Given the description of an element on the screen output the (x, y) to click on. 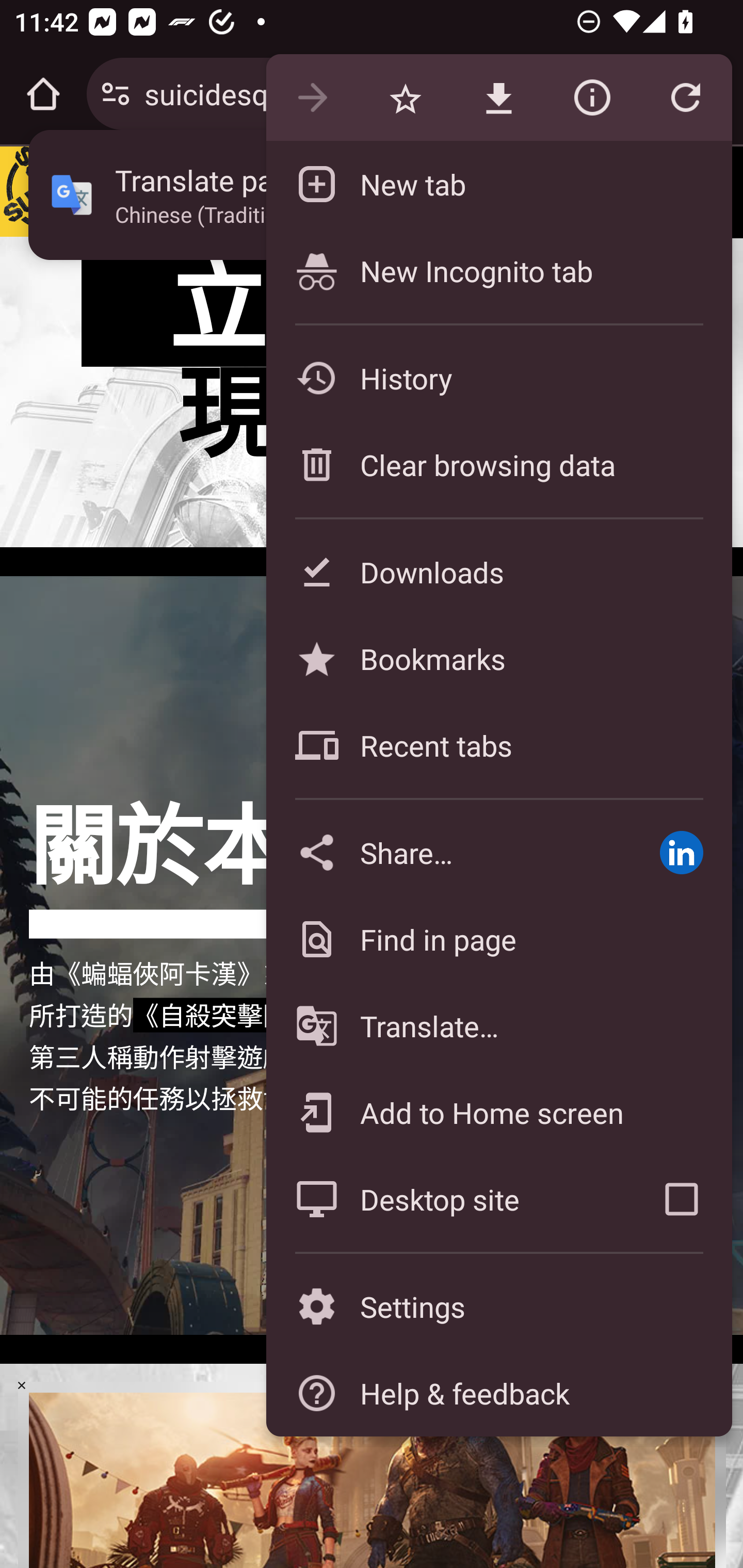
Forward (311, 97)
Bookmark (404, 97)
Download (498, 97)
Page info (591, 97)
Refresh (684, 97)
New tab (498, 184)
New Incognito tab (498, 270)
History (498, 377)
Clear browsing data (498, 464)
Downloads (498, 571)
Bookmarks (498, 658)
Recent tabs (498, 745)
Share… (447, 852)
Share via Share in a post (680, 852)
Find in page (498, 939)
Translate… (498, 1026)
Add to Home screen (498, 1112)
Desktop site Turn on Request desktop site (447, 1198)
Settings (498, 1306)
Help & feedback (498, 1393)
